Given the description of an element on the screen output the (x, y) to click on. 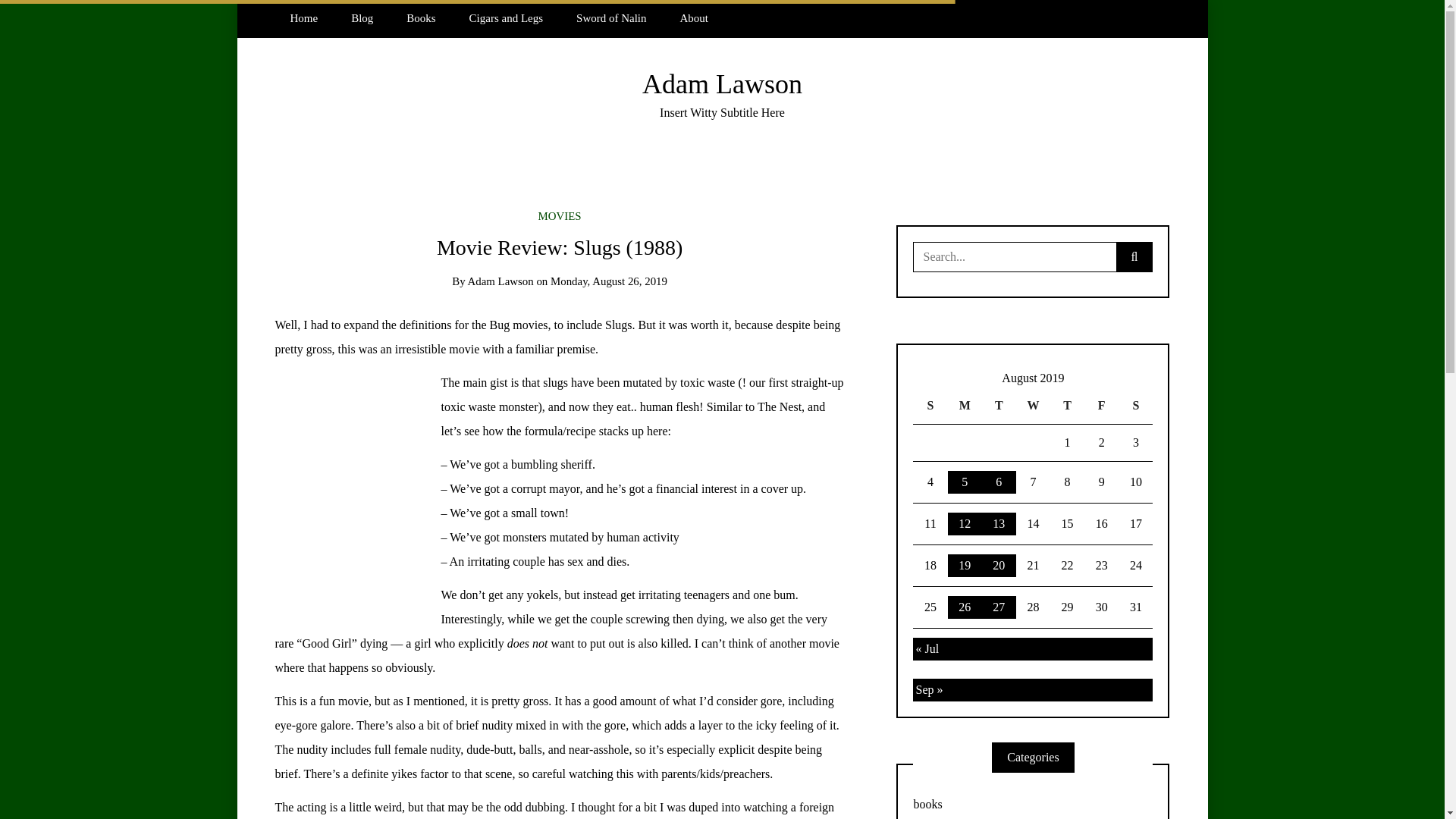
5 (964, 481)
27 (998, 607)
Blog (362, 18)
Sunday (929, 406)
6 (998, 481)
MOVIES (559, 215)
Thursday (1066, 406)
Wednesday (1032, 406)
Saturday (1135, 406)
12 (964, 523)
